Given the description of an element on the screen output the (x, y) to click on. 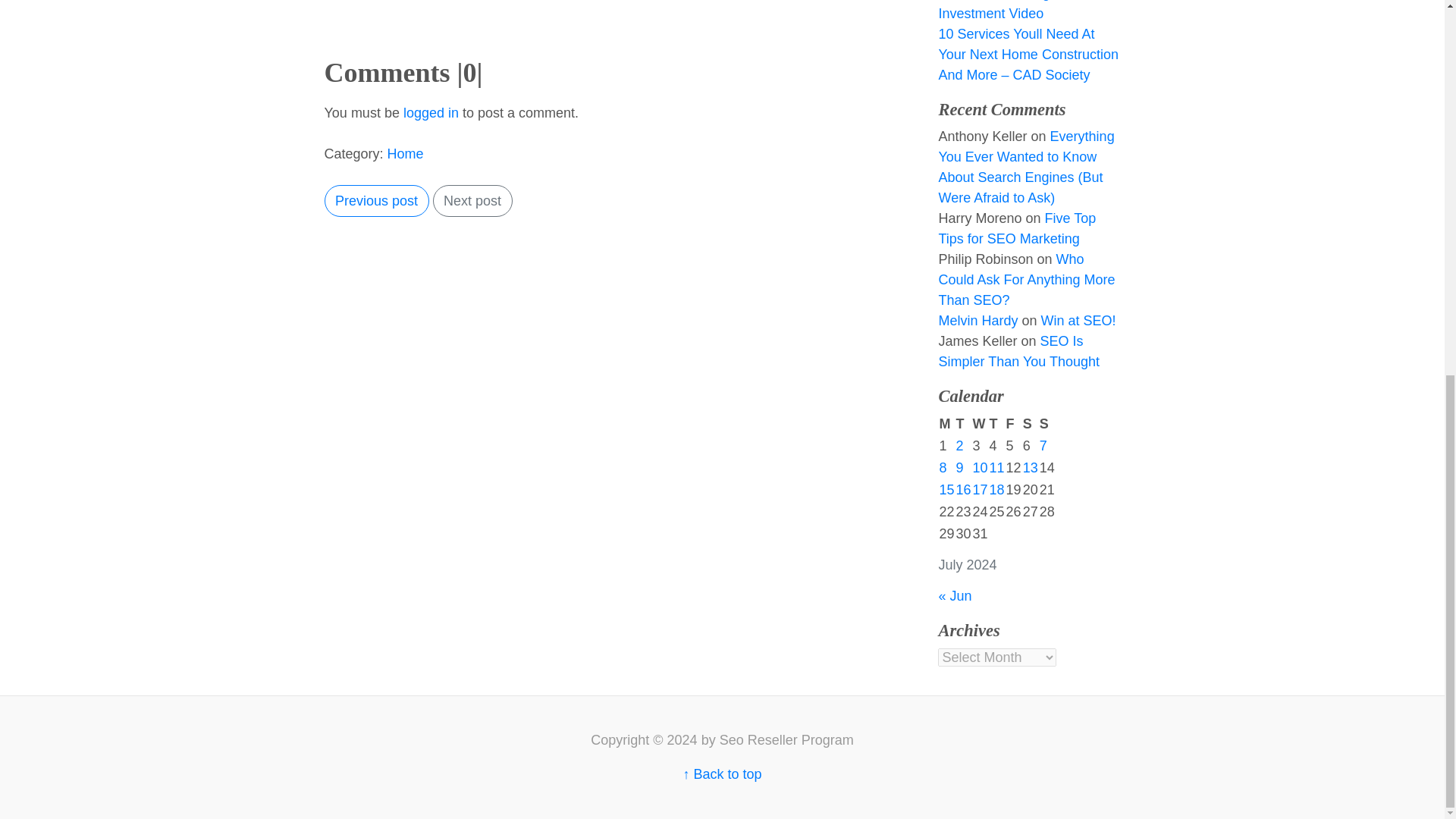
Melvin Hardy (977, 320)
11 (997, 467)
Previous post (376, 201)
13 (1030, 467)
SEO Is Simpler Than You Thought (1018, 351)
10 (980, 467)
logged in (430, 112)
Home (405, 153)
17 (980, 489)
Next post (472, 201)
16 (963, 489)
18 (997, 489)
Win at SEO! (1078, 320)
15 (946, 489)
Five Top Tips for SEO Marketing (1016, 228)
